Given the description of an element on the screen output the (x, y) to click on. 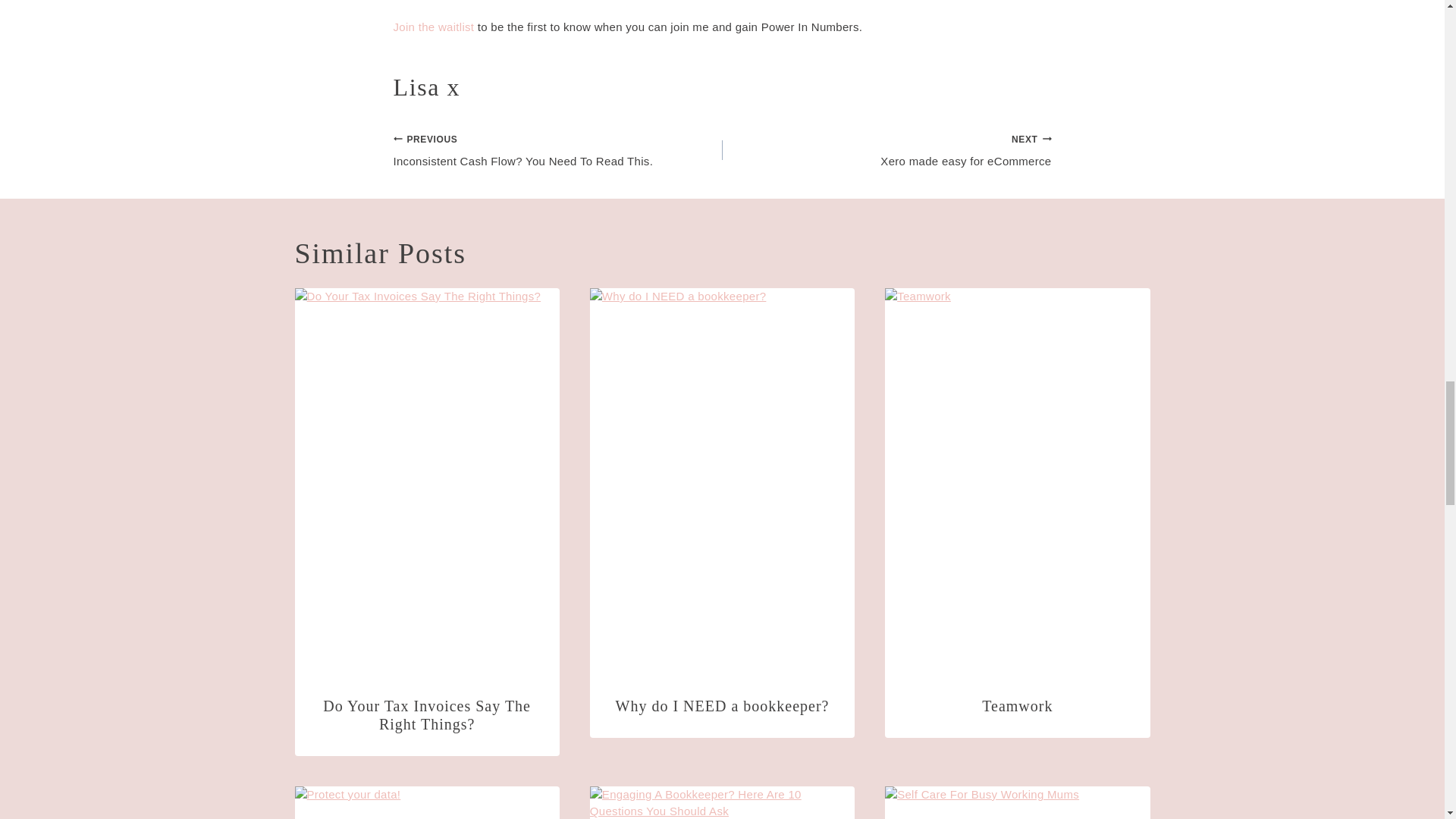
Do Your Tax Invoices Say The Right Things? (427, 714)
Join the waitlist (433, 26)
